Given the description of an element on the screen output the (x, y) to click on. 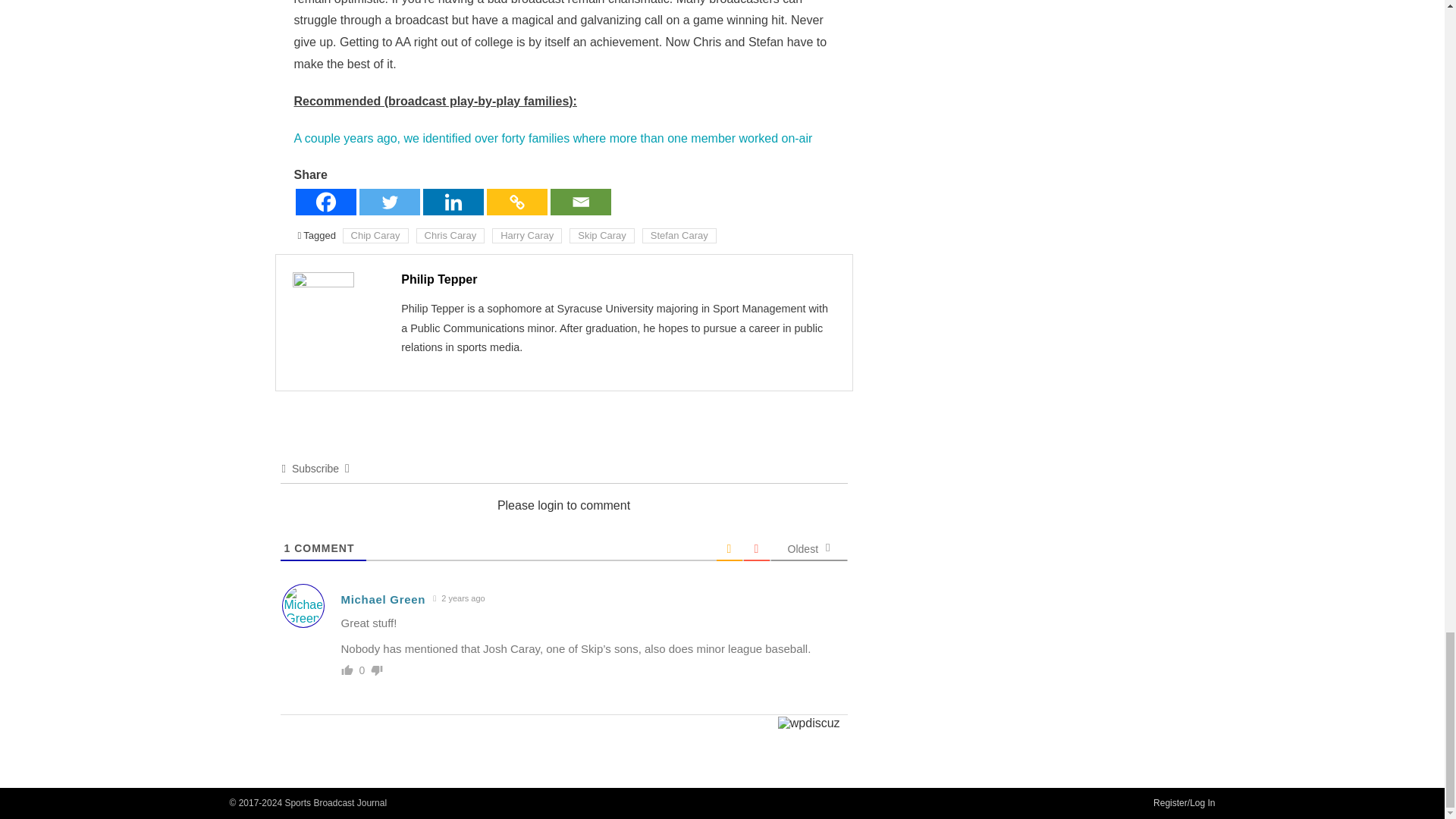
Twitter (389, 202)
Harry Caray (527, 235)
Chris Caray (450, 235)
0 (362, 670)
Stefan Caray (679, 235)
Chip Caray (375, 235)
Facebook (325, 202)
Skip Caray (601, 235)
Email (580, 202)
